Given the description of an element on the screen output the (x, y) to click on. 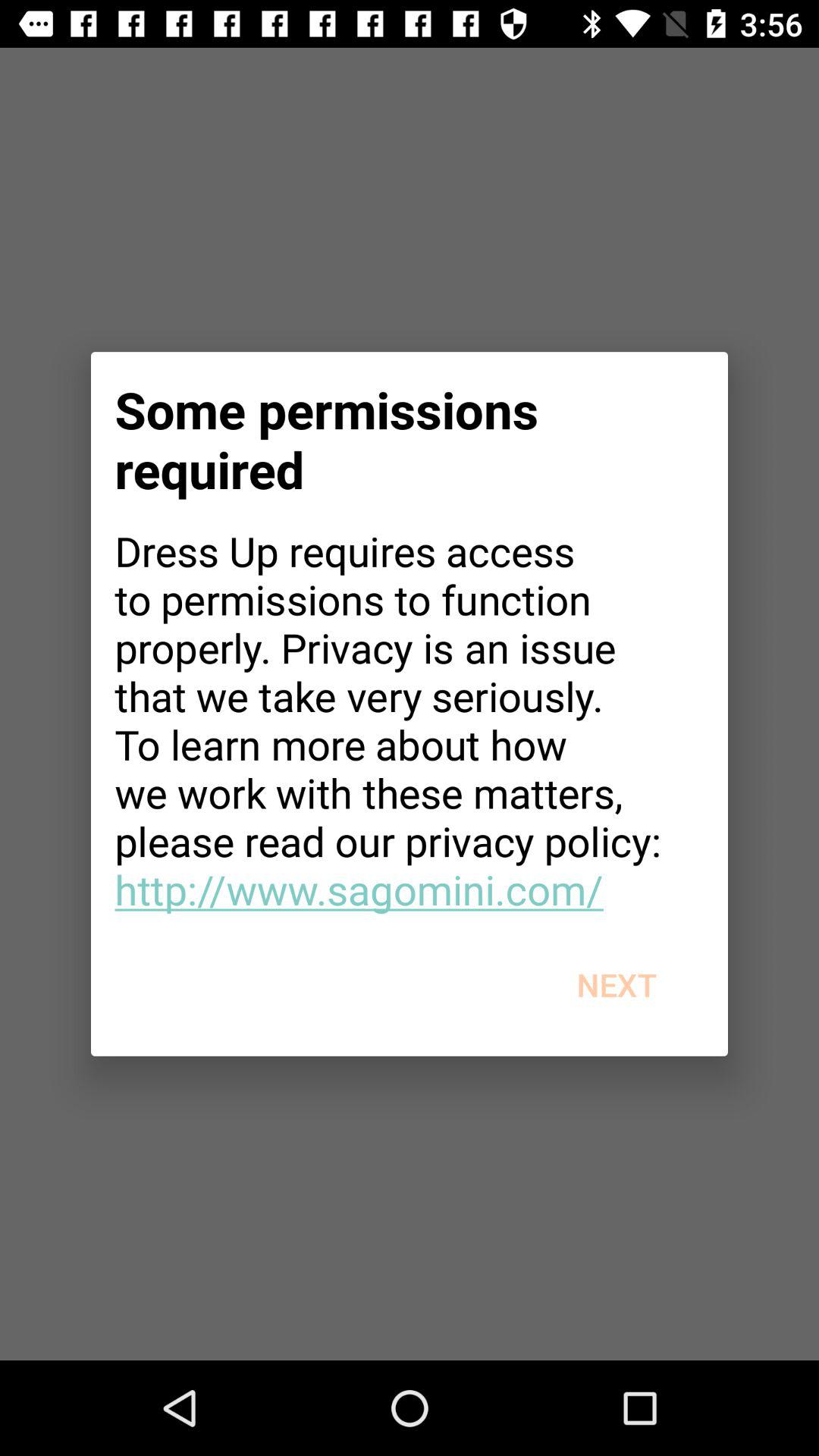
select the dress up requires app (409, 719)
